Given the description of an element on the screen output the (x, y) to click on. 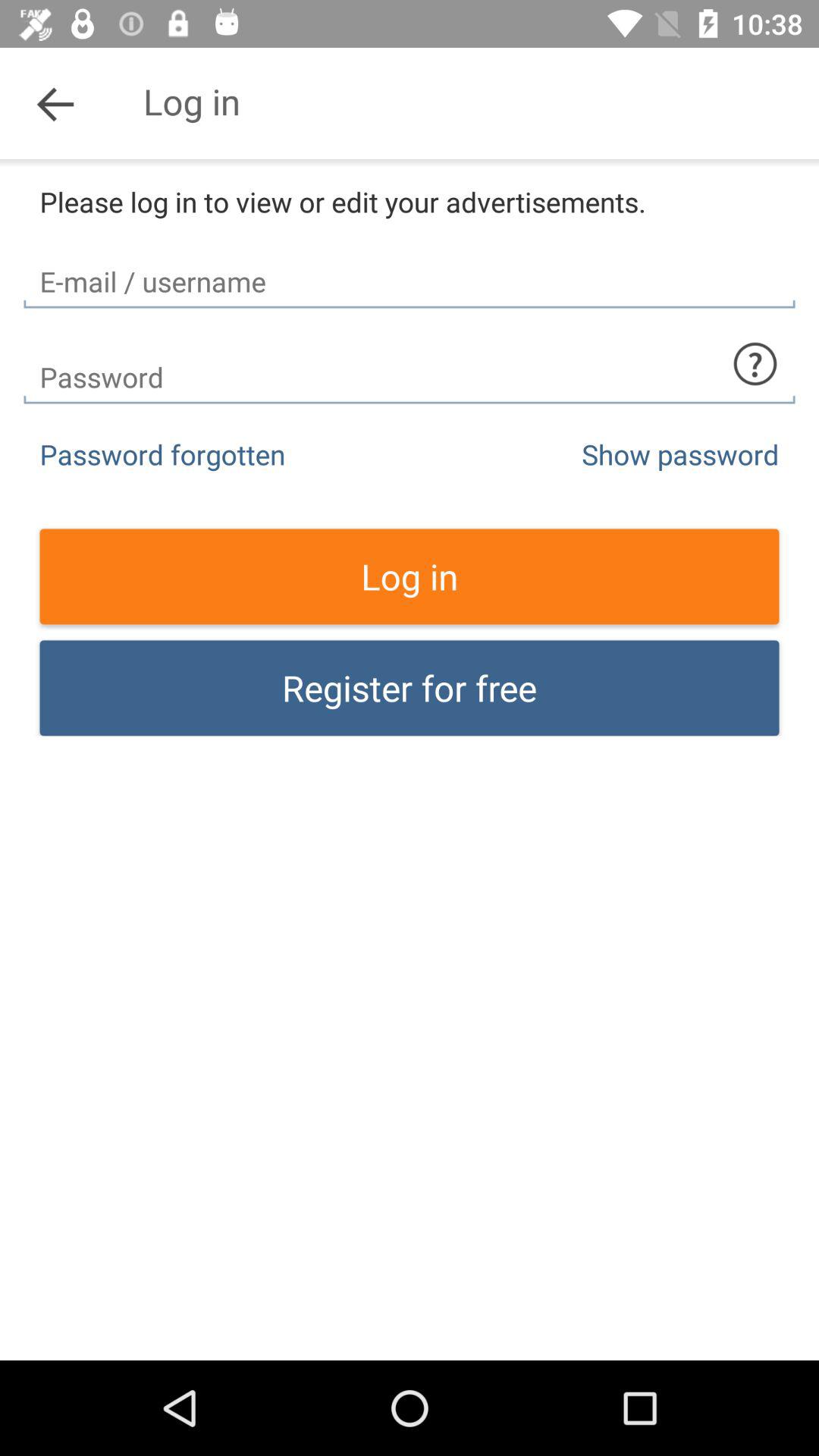
get help choosing a password (755, 363)
